Given the description of an element on the screen output the (x, y) to click on. 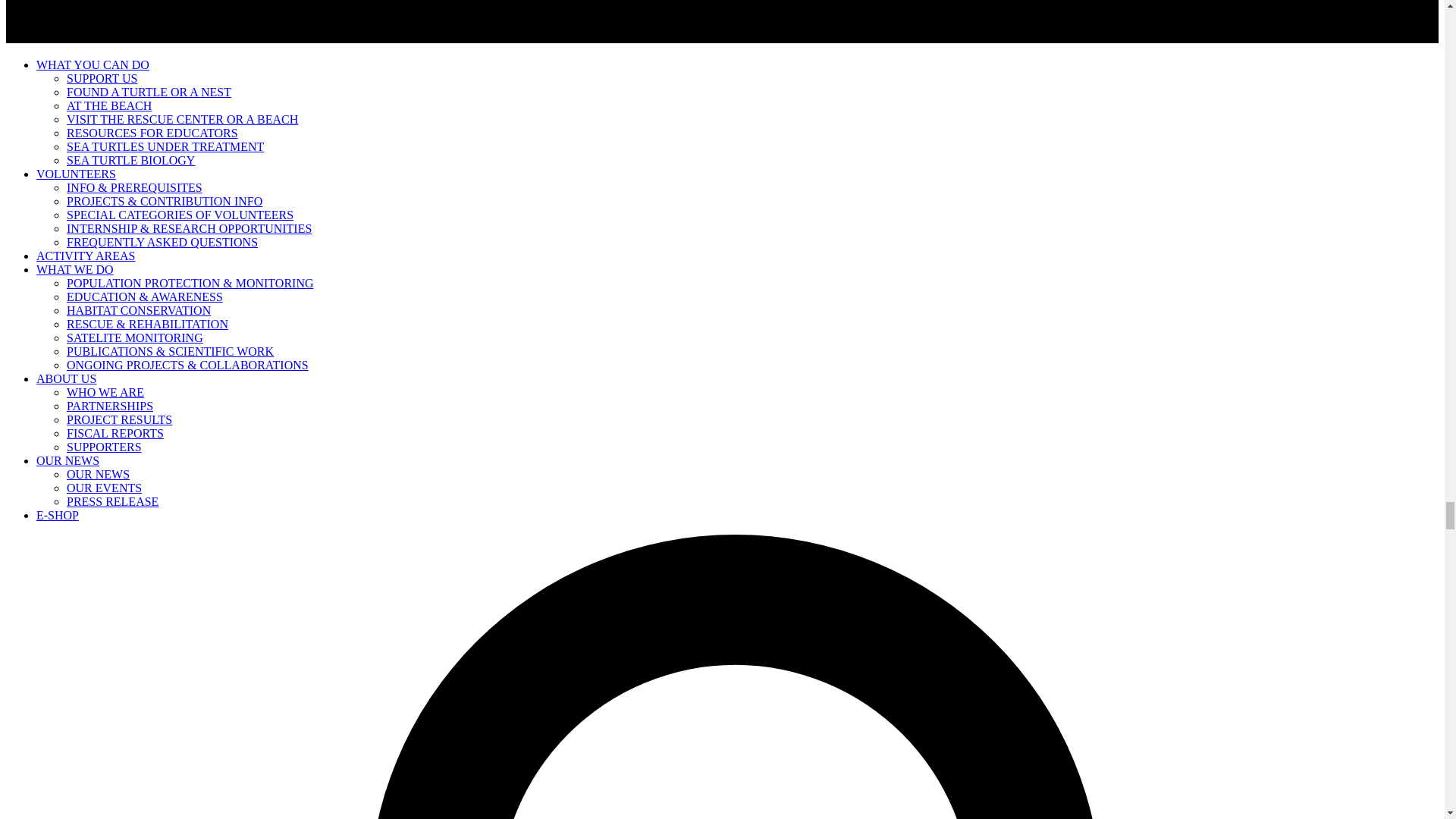
PARTNERSHIPS (109, 405)
ACTIVITY AREAS (85, 255)
WHAT WE DO (74, 269)
PROJECT RESULTS (118, 419)
SATELITE MONITORING (134, 337)
WHAT YOU CAN DO (92, 64)
AT THE BEACH (108, 105)
ABOUT US (66, 378)
WHO WE ARE (105, 391)
RESOURCES FOR EDUCATORS (152, 132)
